Given the description of an element on the screen output the (x, y) to click on. 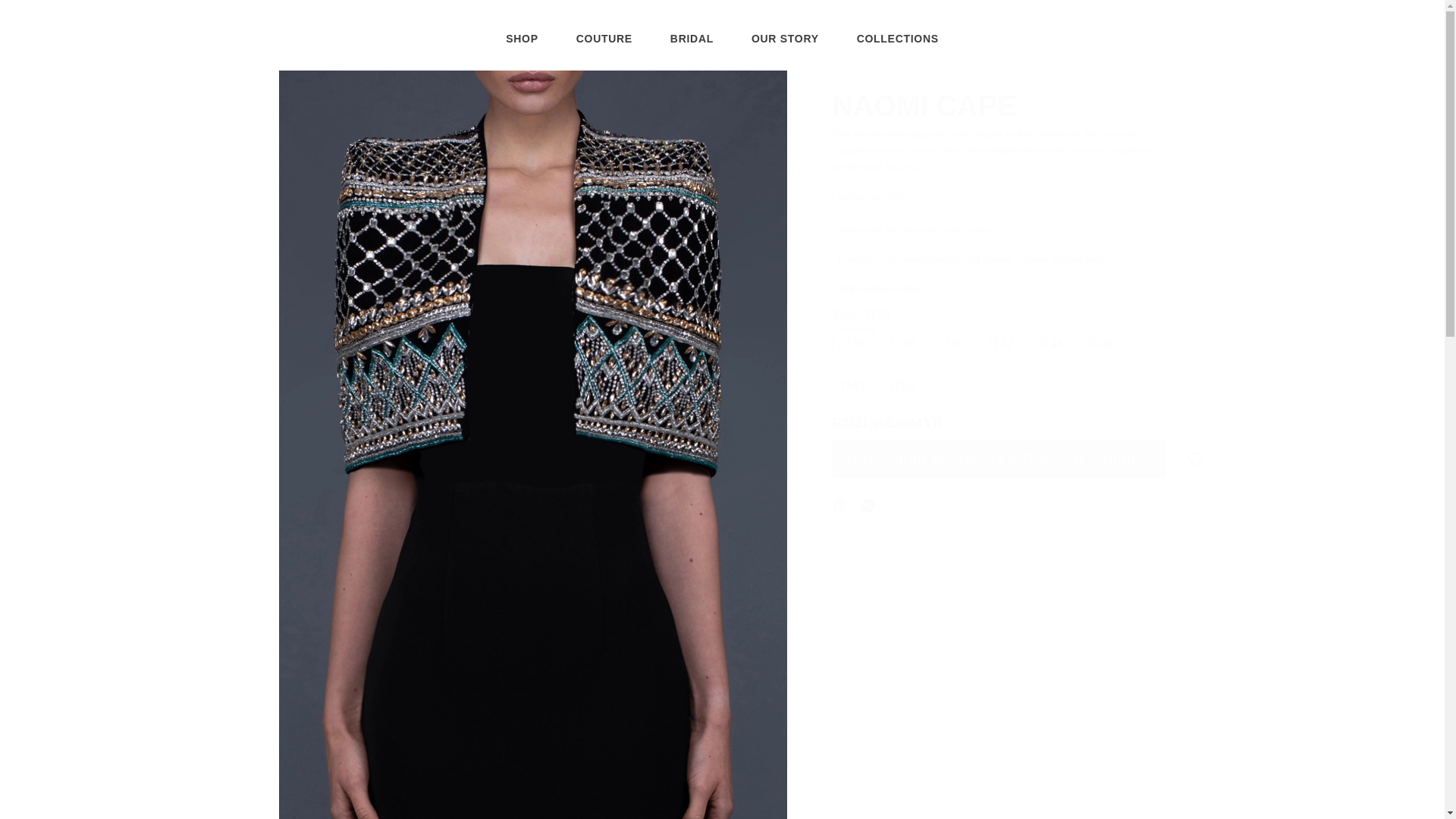
Whatsapp (868, 504)
Add to wishlist (1195, 458)
Pinterest (999, 356)
COLLECTIONS (838, 504)
SHOP (897, 43)
BRIDAL (520, 53)
COUTURE (691, 44)
NAOMI CAPE (604, 45)
OUR STORY (999, 110)
Add to wishlist (785, 43)
RM21,000.00MYR (1195, 458)
